Given the description of an element on the screen output the (x, y) to click on. 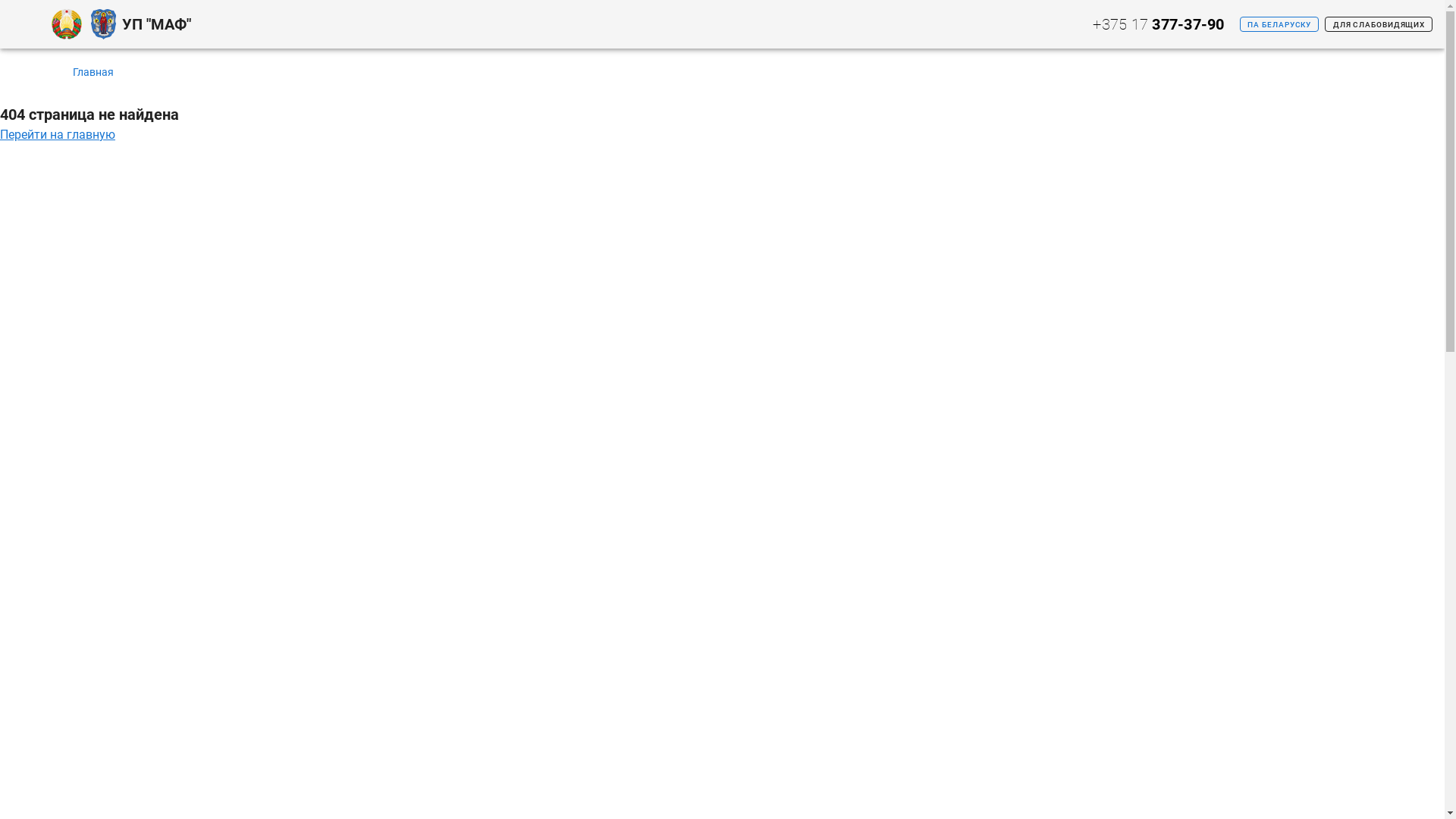
+375 17 377-37-90 Element type: text (1156, 24)
